Given the description of an element on the screen output the (x, y) to click on. 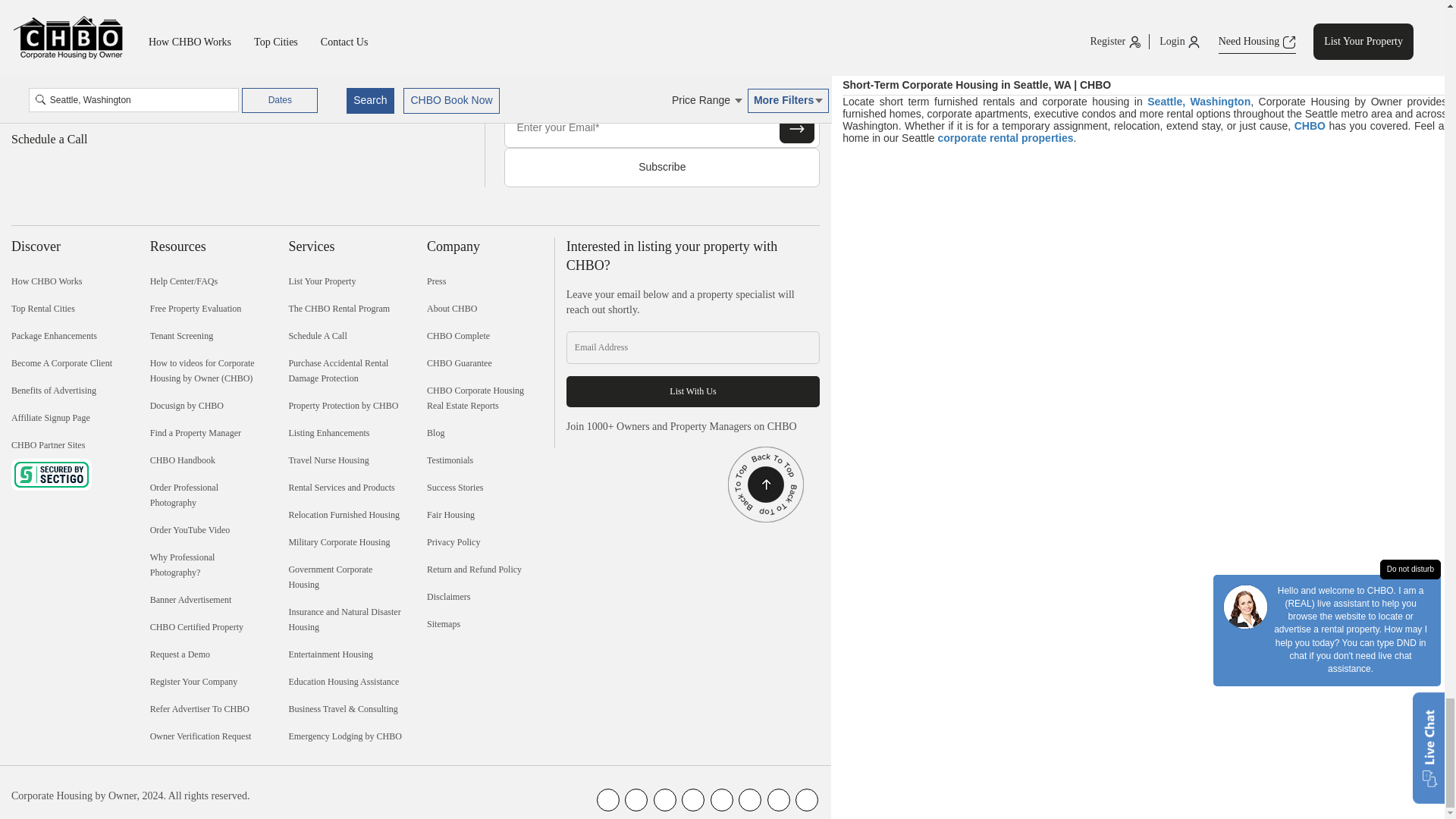
List With Us (692, 391)
Subscribe (661, 167)
